Given the description of an element on the screen output the (x, y) to click on. 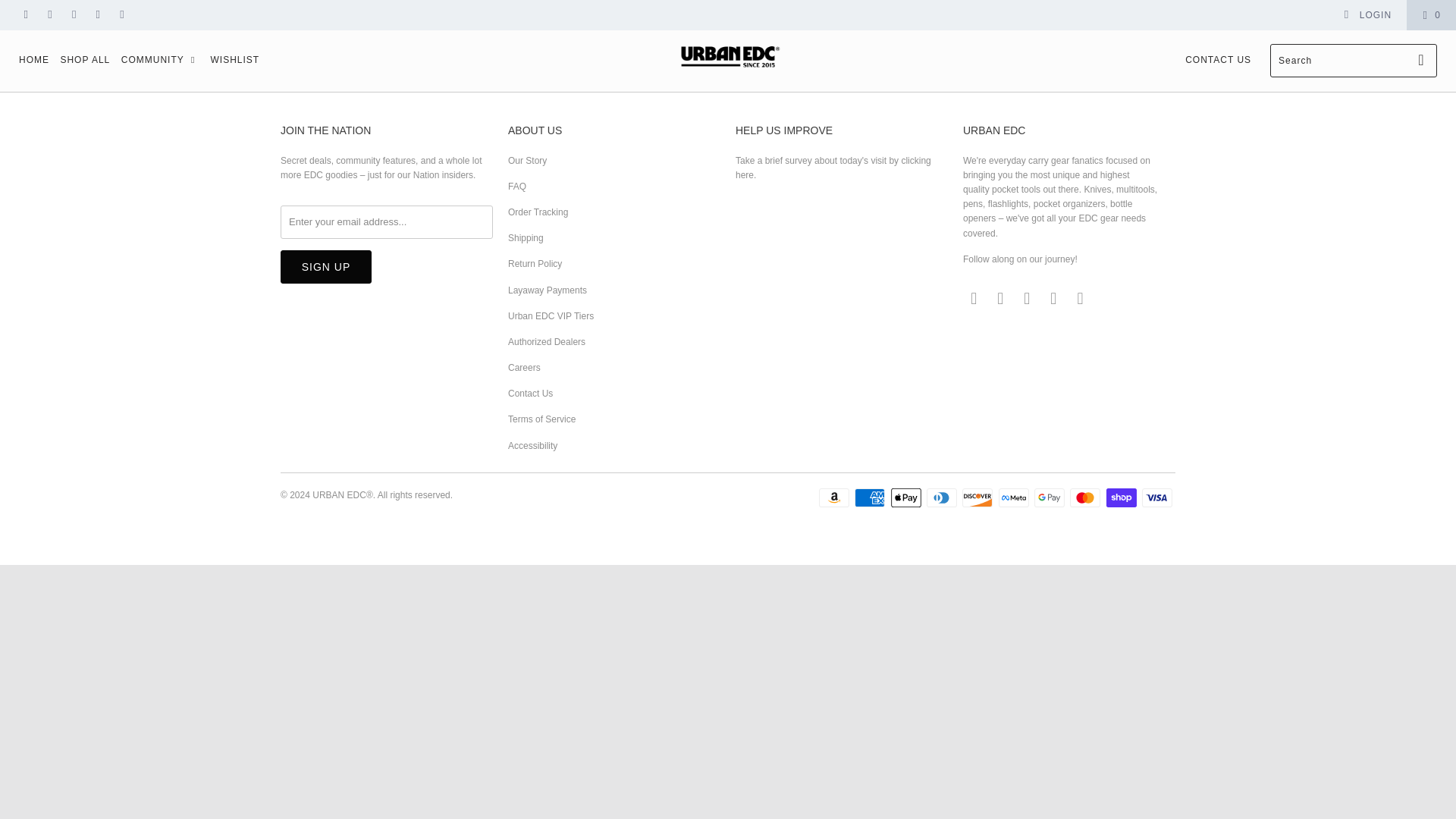
WISHLIST (234, 60)
COMMUNITY (159, 60)
SHOP ALL (84, 60)
CONTACT US (1217, 60)
LOGIN (1366, 15)
Sign Up (326, 266)
My Account  (1366, 15)
